Given the description of an element on the screen output the (x, y) to click on. 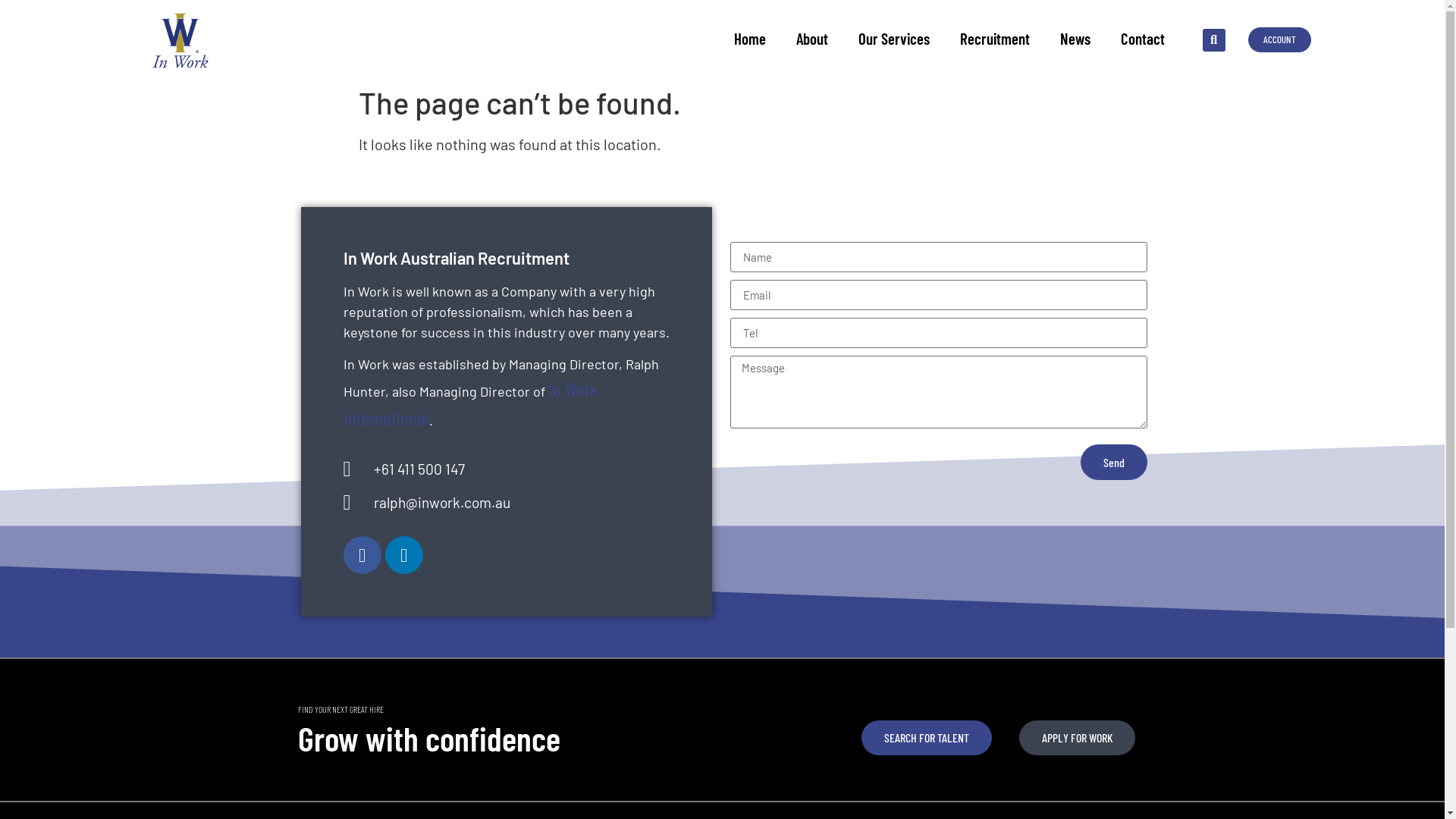
Home Element type: text (749, 38)
ACCOUNT Element type: text (1279, 39)
In Work International Element type: text (469, 402)
Contact Element type: text (1142, 38)
Recruitment Element type: text (994, 38)
About Element type: text (812, 38)
Our Services Element type: text (893, 38)
APPLY FOR WORK Element type: text (1077, 737)
SEARCH FOR TALENT Element type: text (926, 737)
News Element type: text (1074, 38)
ralph@inwork.com.au Element type: text (505, 503)
Send Element type: text (1112, 462)
